Given the description of an element on the screen output the (x, y) to click on. 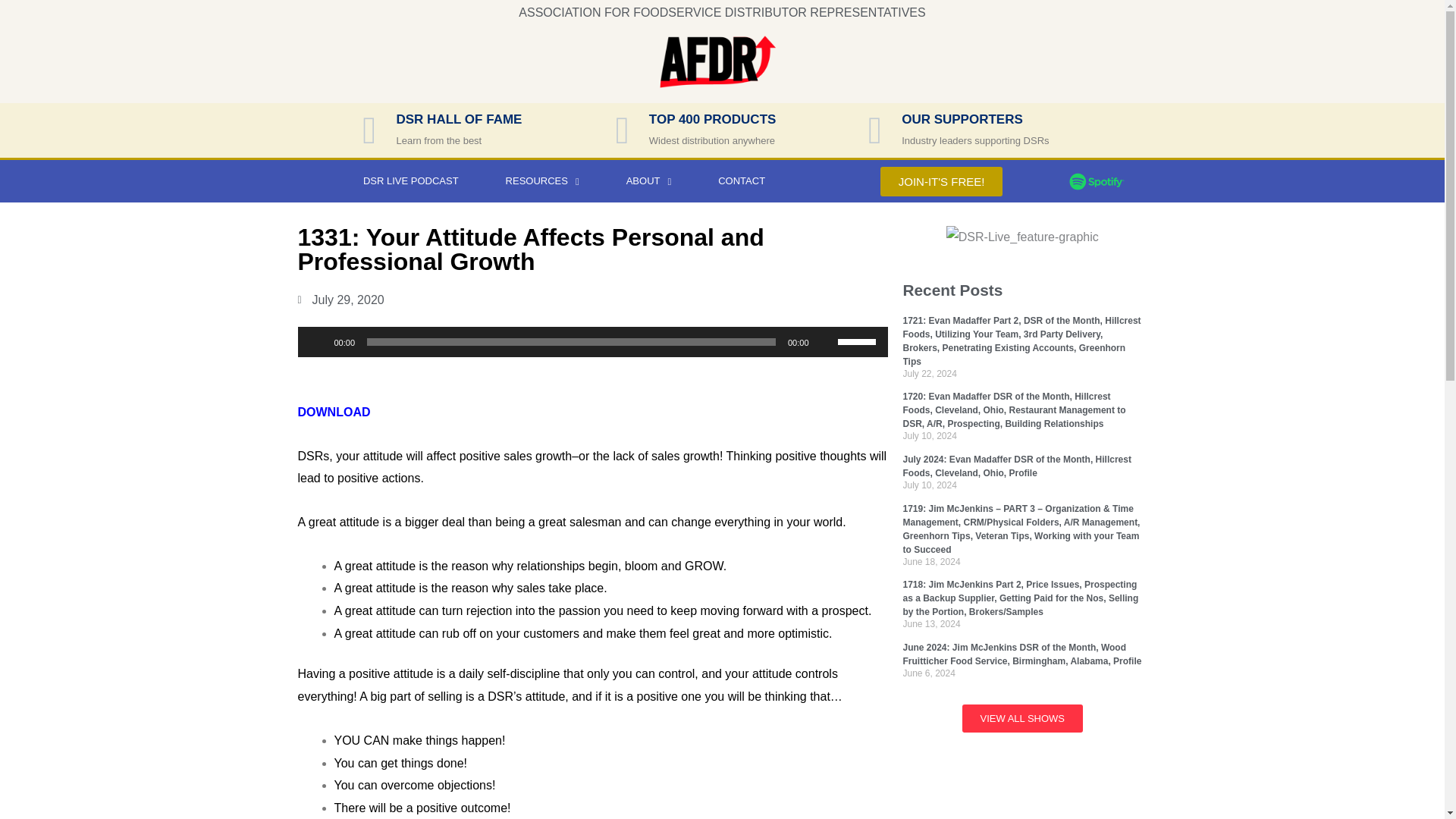
Mute (824, 341)
July 29, 2020 (340, 300)
JOIN-IT'S FREE! (941, 181)
DOWNLOAD (333, 411)
RESOURCES (541, 180)
CONTACT (741, 180)
DSR HALL OF FAME (458, 119)
OUR SUPPORTERS (962, 119)
TOP 400 PRODUCTS (712, 119)
Play (316, 341)
DSR LIVE PODCAST (410, 180)
VIEW ALL SHOWS (1022, 718)
